Given the description of an element on the screen output the (x, y) to click on. 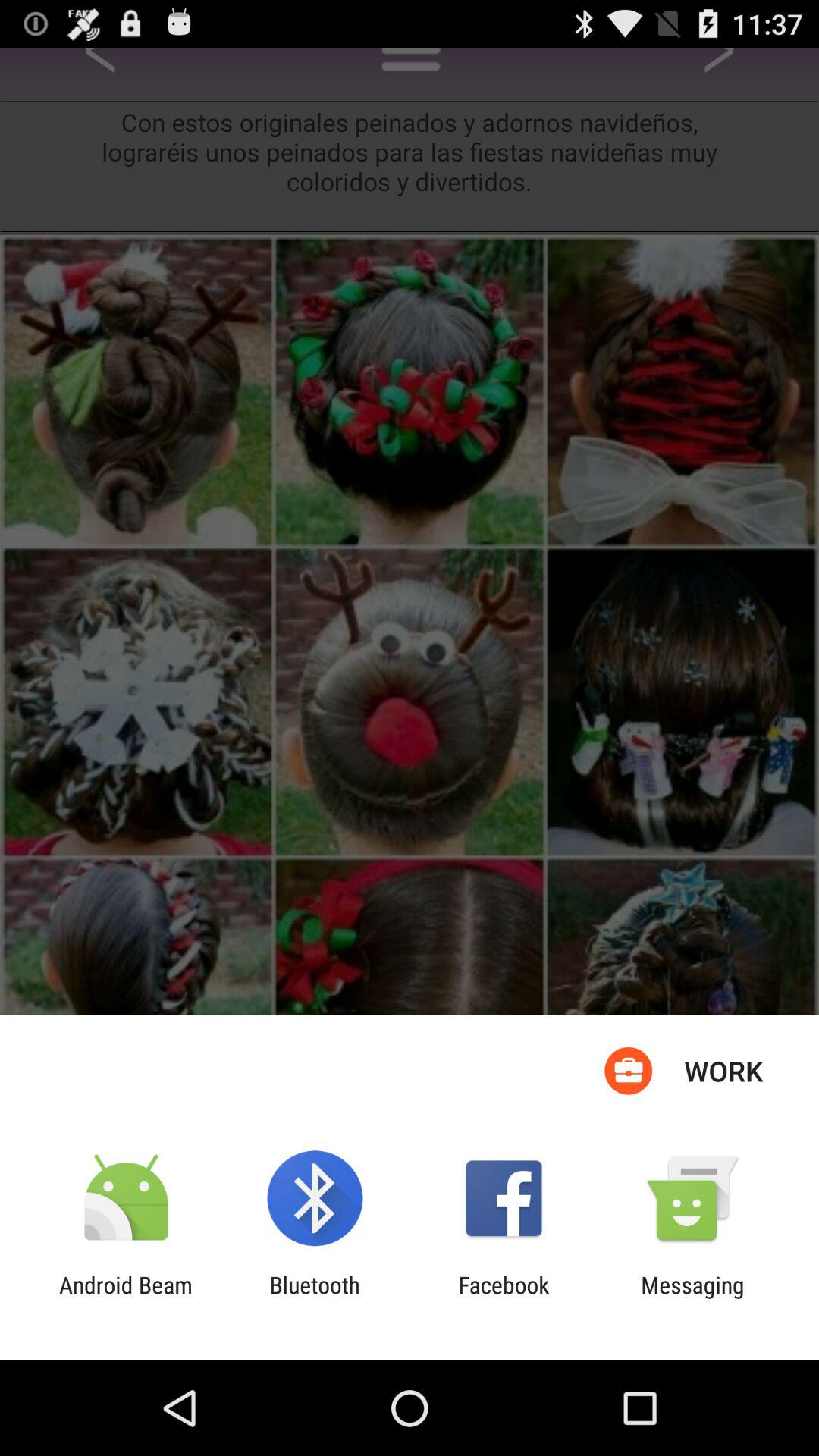
turn off the app to the right of android beam icon (314, 1298)
